Given the description of an element on the screen output the (x, y) to click on. 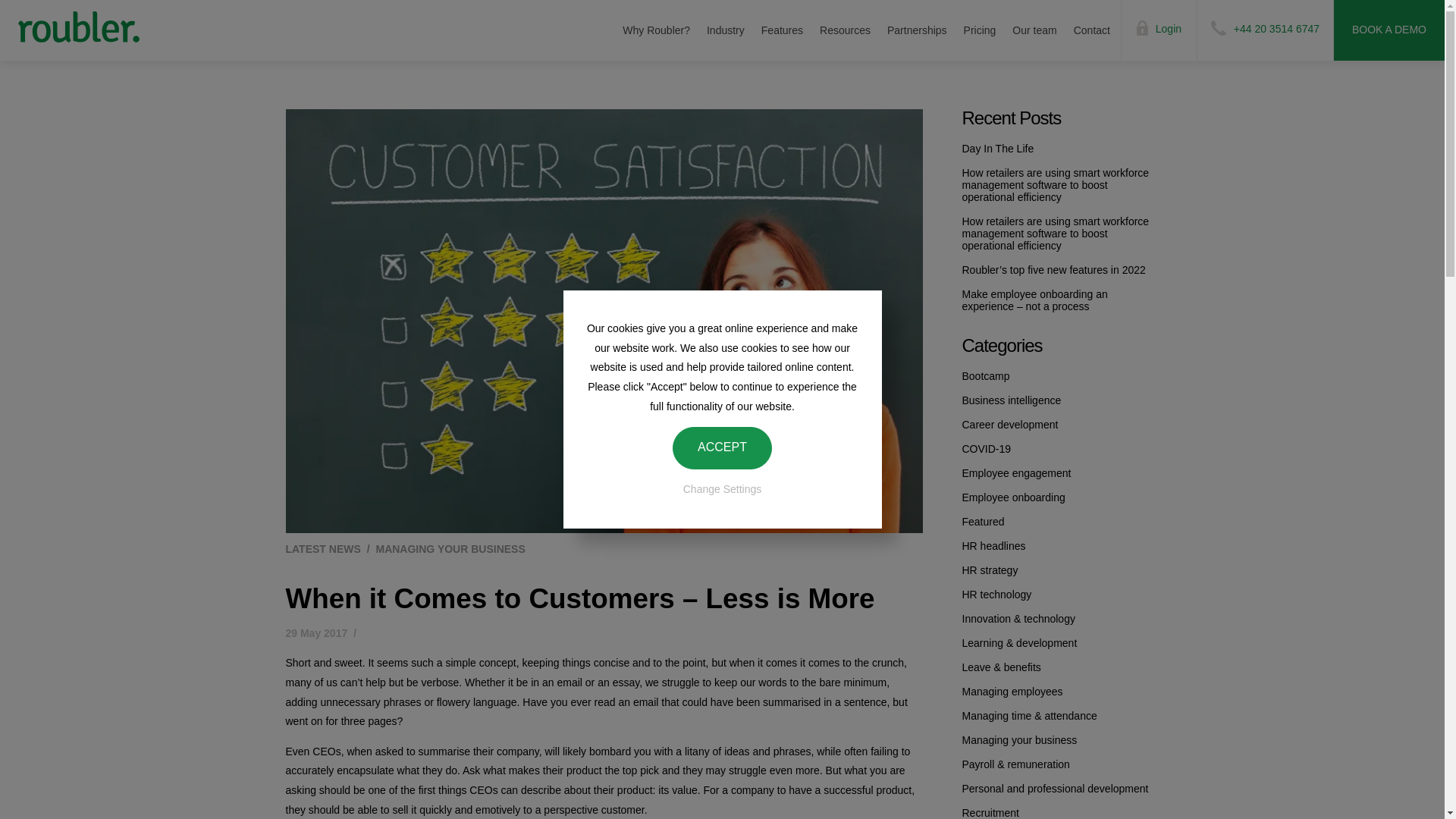
Partnerships (916, 30)
Resources (844, 30)
Our team (1034, 30)
Why Roubler? (655, 30)
